Given the description of an element on the screen output the (x, y) to click on. 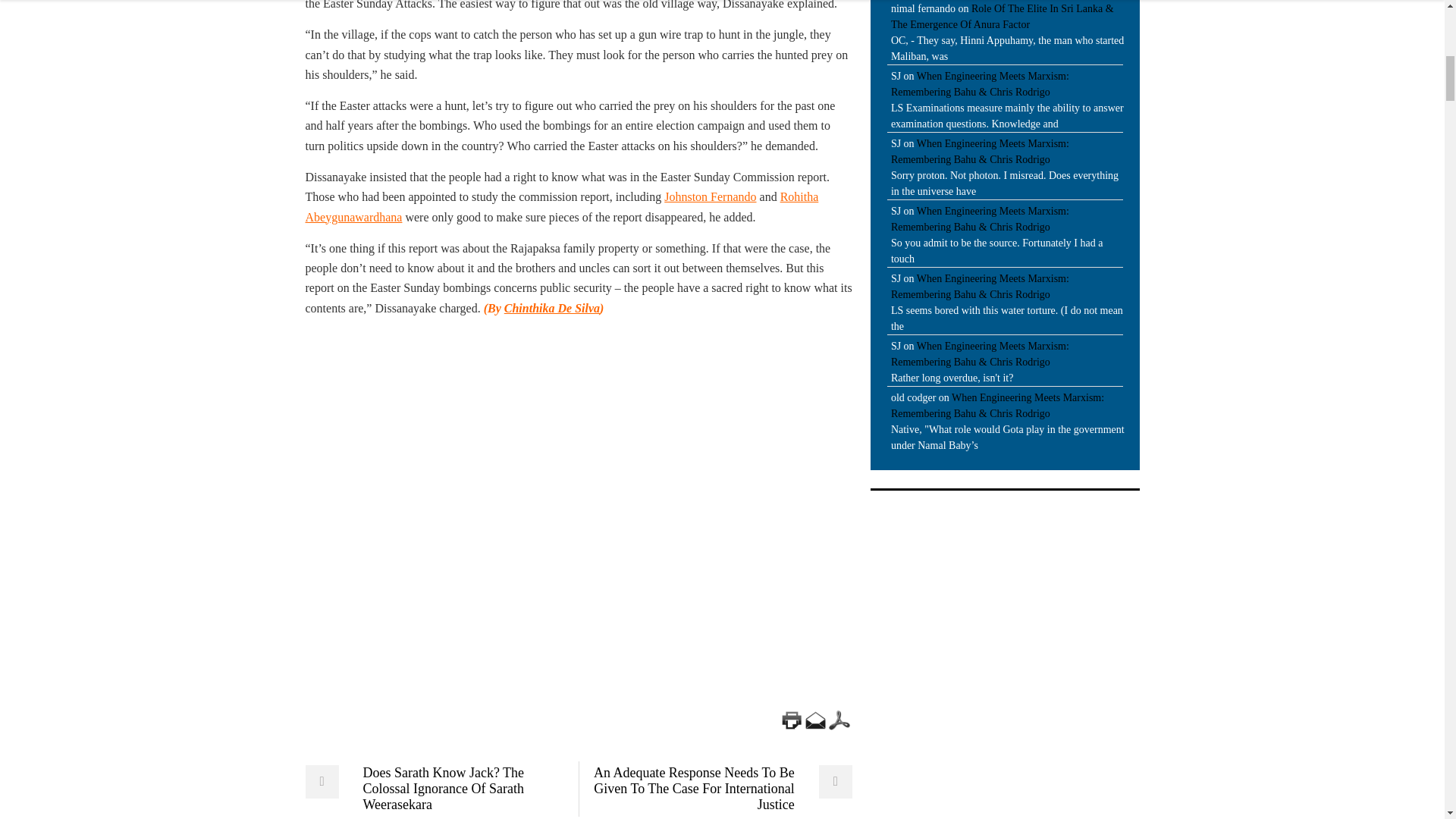
Johnston Fernando (709, 196)
Chinthika De Silva (551, 308)
Rohitha Abeygunawardhana (561, 206)
